Given the description of an element on the screen output the (x, y) to click on. 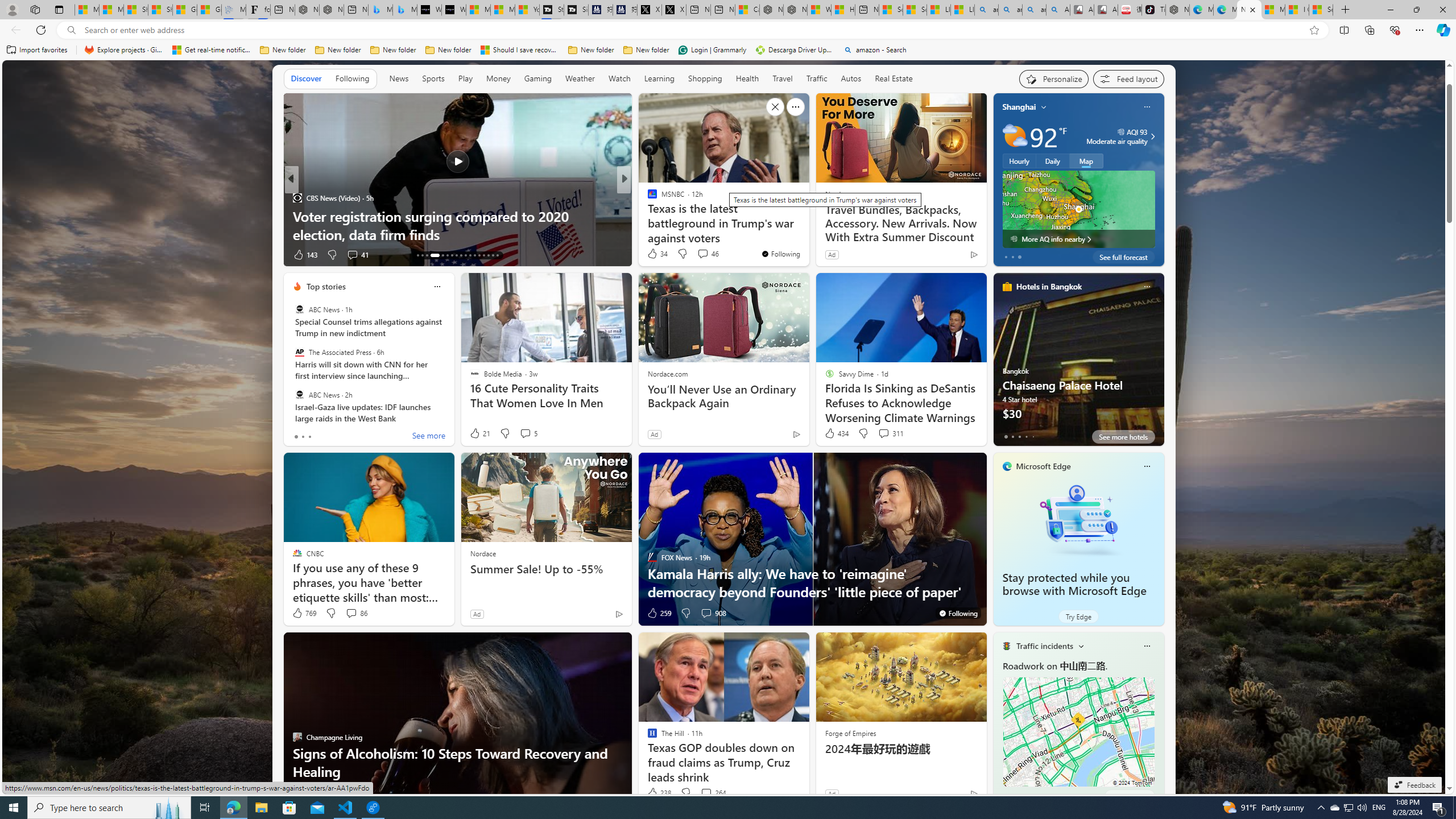
AutomationID: backgroundImagePicture (723, 426)
259 Like (658, 612)
AutomationID: tab-13 (417, 255)
Inc. (647, 197)
View comments 5 Comment (525, 432)
hotels-header-icon (1006, 286)
View comments 3 Comment (705, 254)
tab-2 (1019, 795)
94 Like (652, 254)
